Given the description of an element on the screen output the (x, y) to click on. 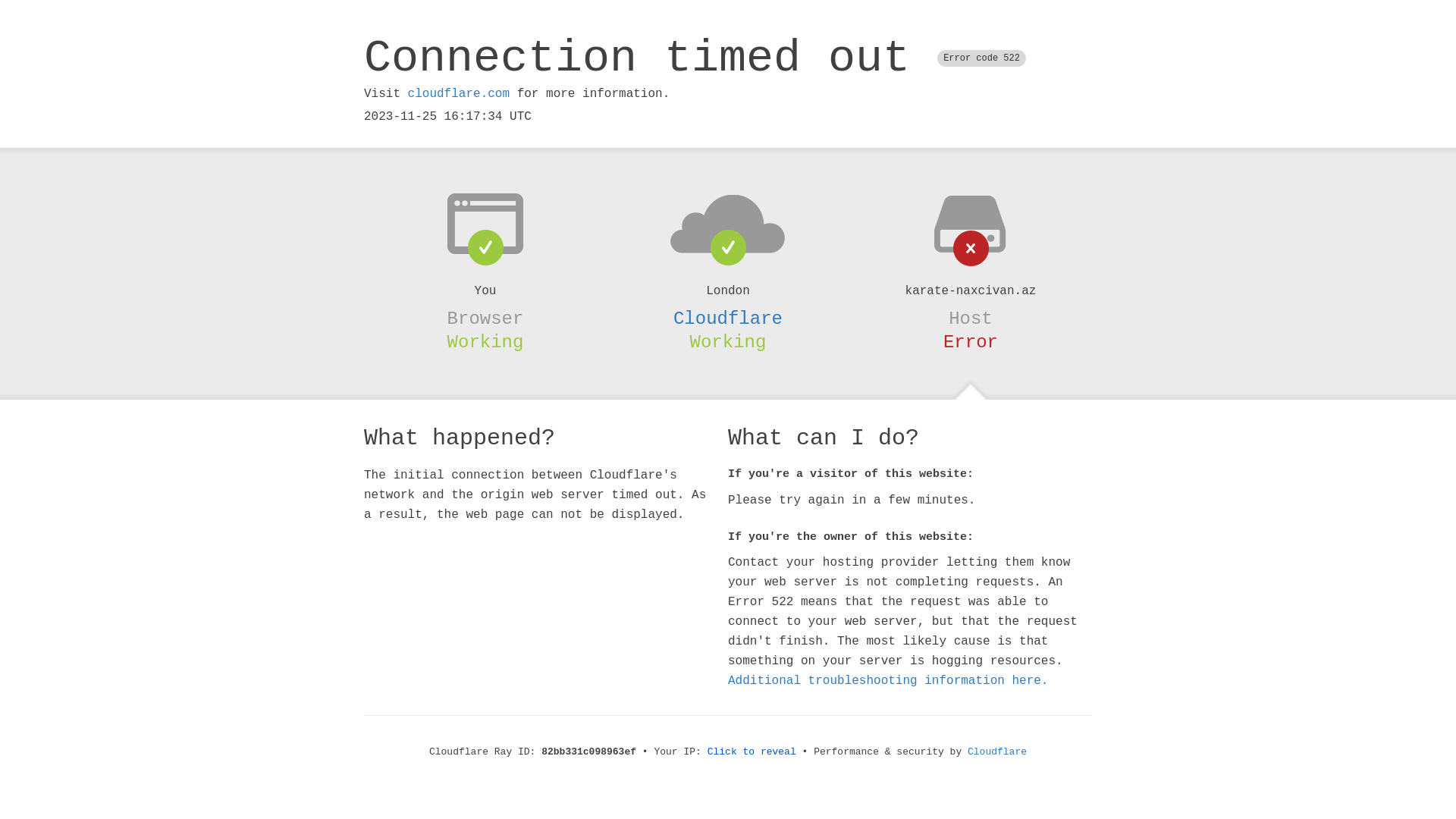
Additional troubleshooting information here. Element type: text (888, 680)
Cloudflare Element type: text (727, 318)
cloudflare.com Element type: text (458, 93)
Cloudflare Element type: text (996, 751)
Click to reveal Element type: text (751, 751)
